Given the description of an element on the screen output the (x, y) to click on. 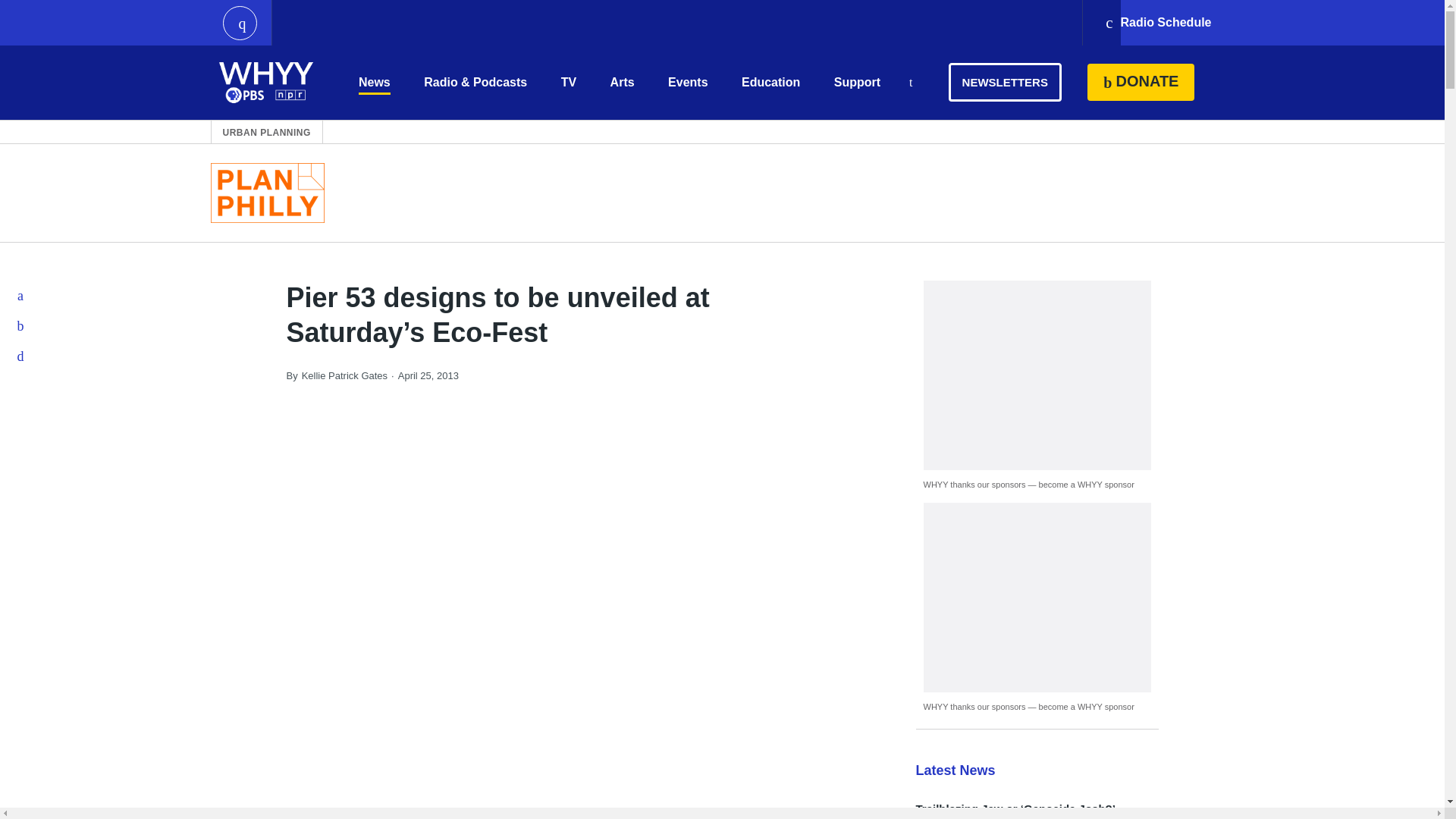
Facebook (21, 295)
Twitter (21, 326)
WHYY (266, 82)
Radio Schedule (1157, 22)
Facebook (21, 295)
Email (21, 356)
plan-philly-masthead-sm (267, 192)
URBAN PLANNING (266, 132)
Search (910, 83)
Twitter (21, 326)
